Given the description of an element on the screen output the (x, y) to click on. 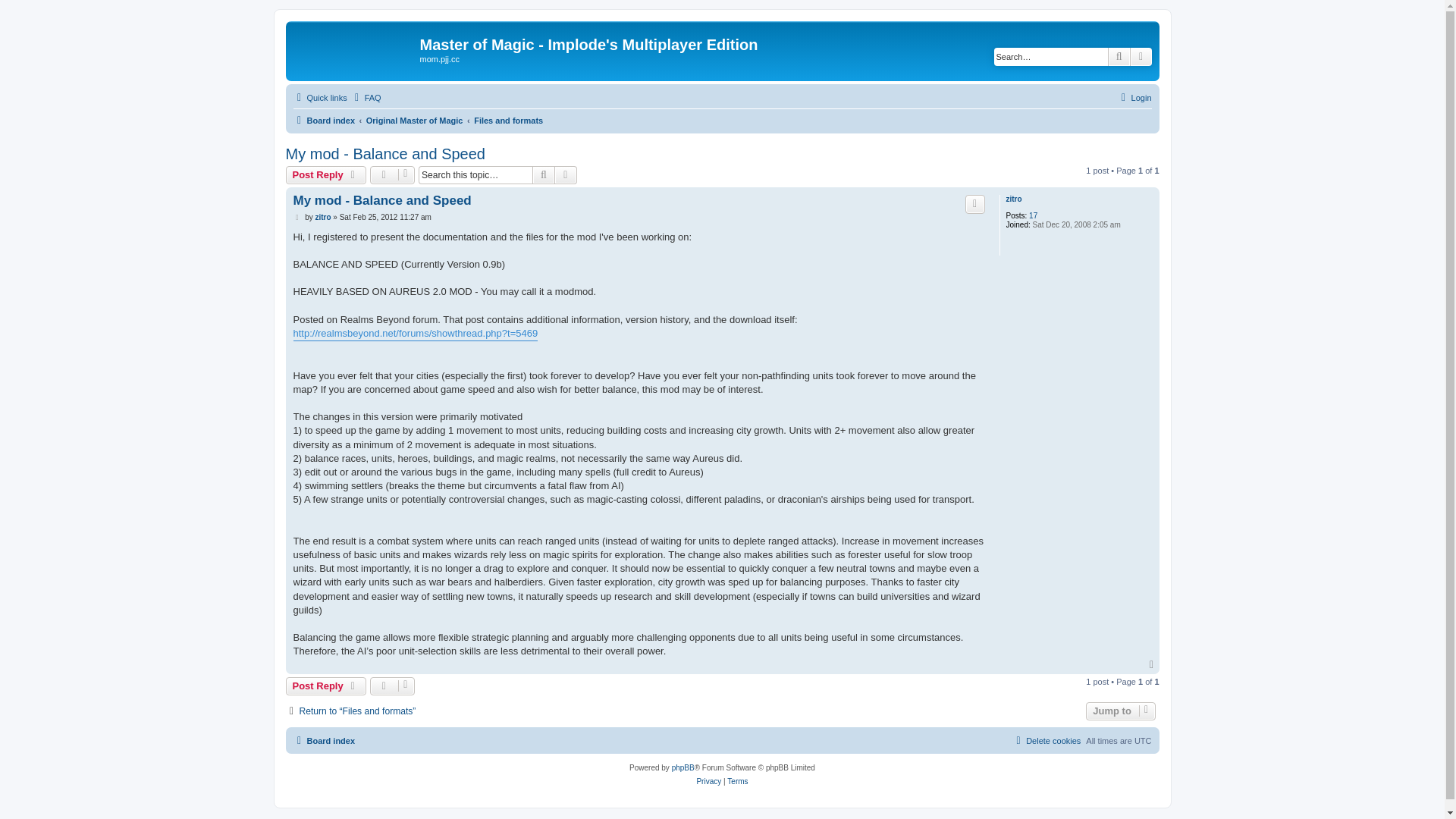
Advanced search (565, 175)
Top (1151, 665)
Top (1151, 665)
Original Master of Magic (414, 120)
Topic tools (391, 175)
Post a reply (325, 175)
Search (543, 175)
Reply with quote (975, 203)
Search (1119, 56)
Topic tools (391, 686)
Search (1119, 56)
My mod - Balance and Speed (384, 153)
Search for keywords (1051, 56)
Board index (323, 120)
Original Master of Magic (414, 120)
